Given the description of an element on the screen output the (x, y) to click on. 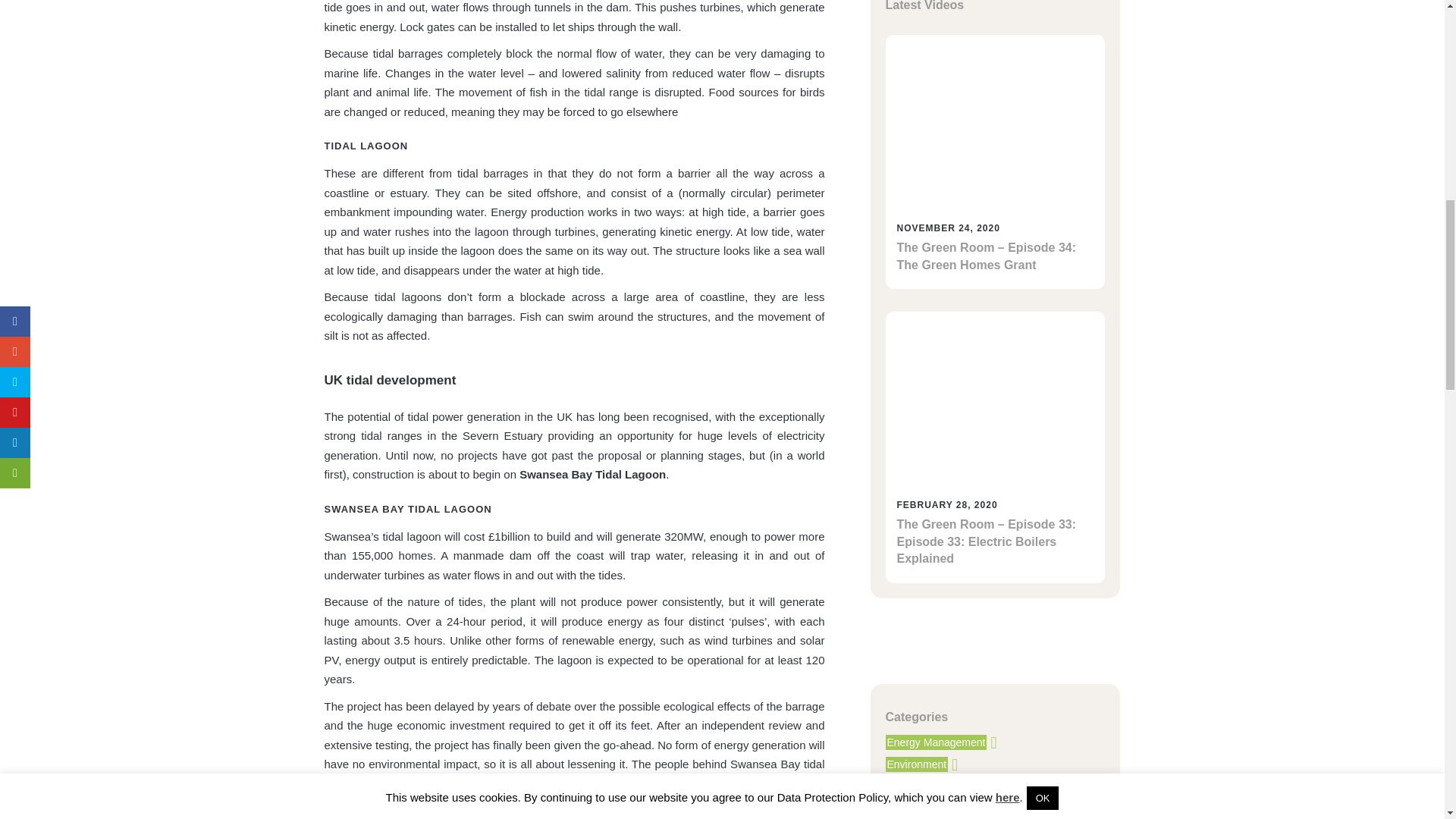
Energy Management (936, 742)
Energy Management (936, 742)
Swansea Bay Tidal Lagoon (592, 473)
